Given the description of an element on the screen output the (x, y) to click on. 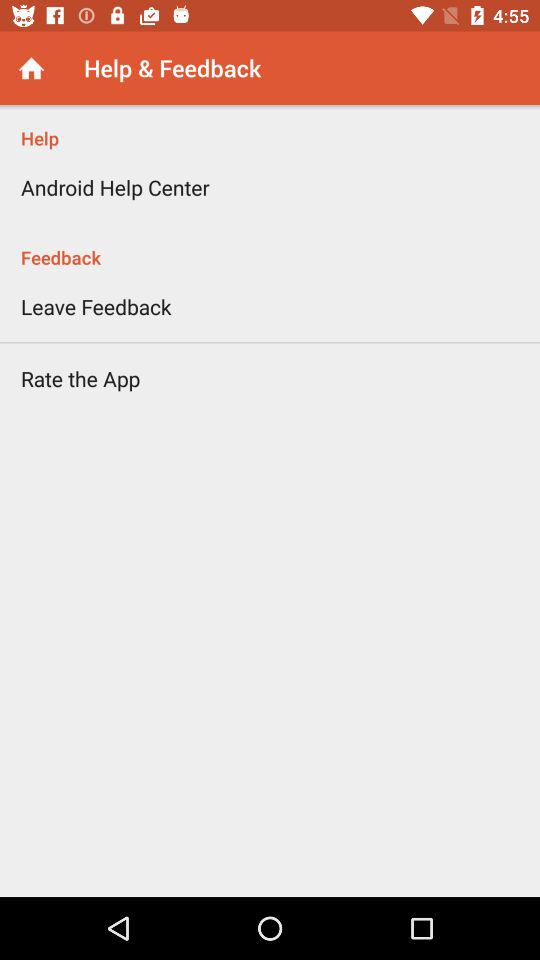
scroll until rate the app item (80, 378)
